Given the description of an element on the screen output the (x, y) to click on. 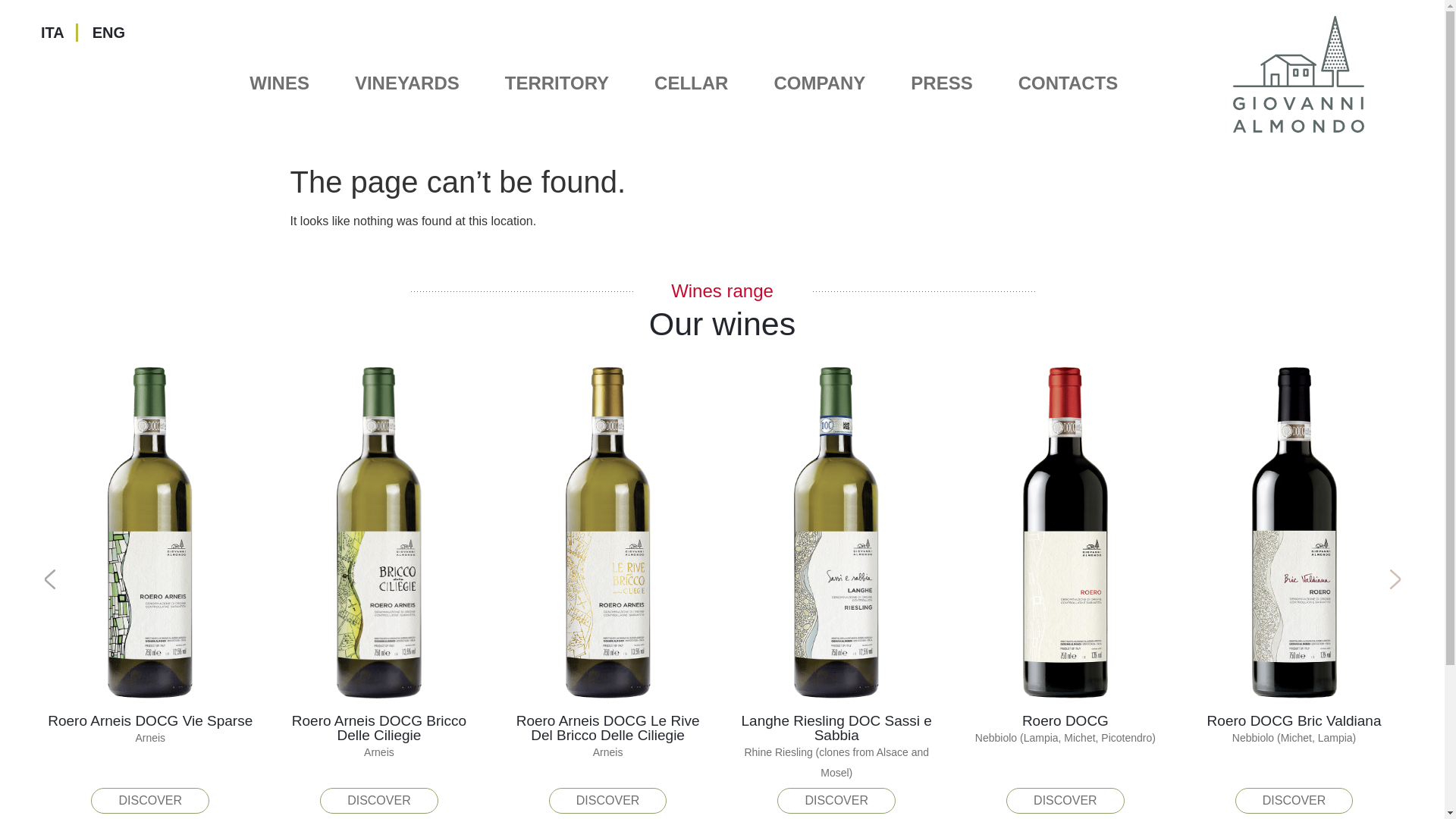
DISCOVER (379, 800)
DISCOVER (607, 800)
WINES (279, 82)
COMPANY (818, 82)
PRESS (940, 82)
ITA (52, 32)
CONTACTS (1067, 82)
ENG (101, 32)
DISCOVER (149, 800)
CELLAR (690, 82)
DISCOVER (836, 800)
VINEYARDS (407, 82)
TERRITORY (556, 82)
